Given the description of an element on the screen output the (x, y) to click on. 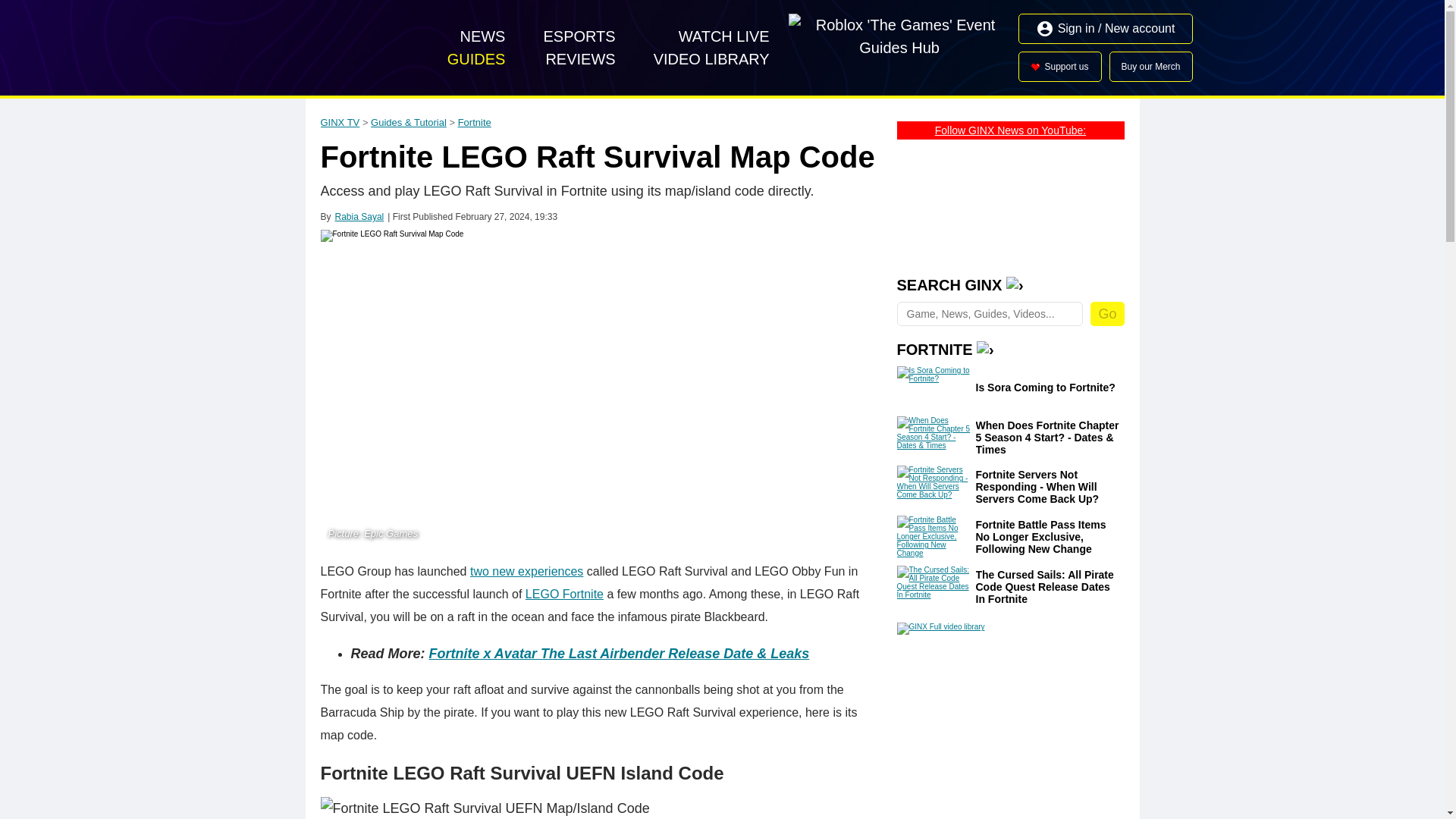
Upcoming Games (711, 58)
All posts (481, 36)
Sign in (1105, 28)
Upcoming Games (724, 36)
Is Sora Coming to Fortnite? (933, 387)
Roblox 'The Games' Event Guides Hub (899, 47)
GINX TV (339, 122)
Fortnite (475, 122)
All our guides and tutorials (476, 58)
All Esports (579, 36)
